Given the description of an element on the screen output the (x, y) to click on. 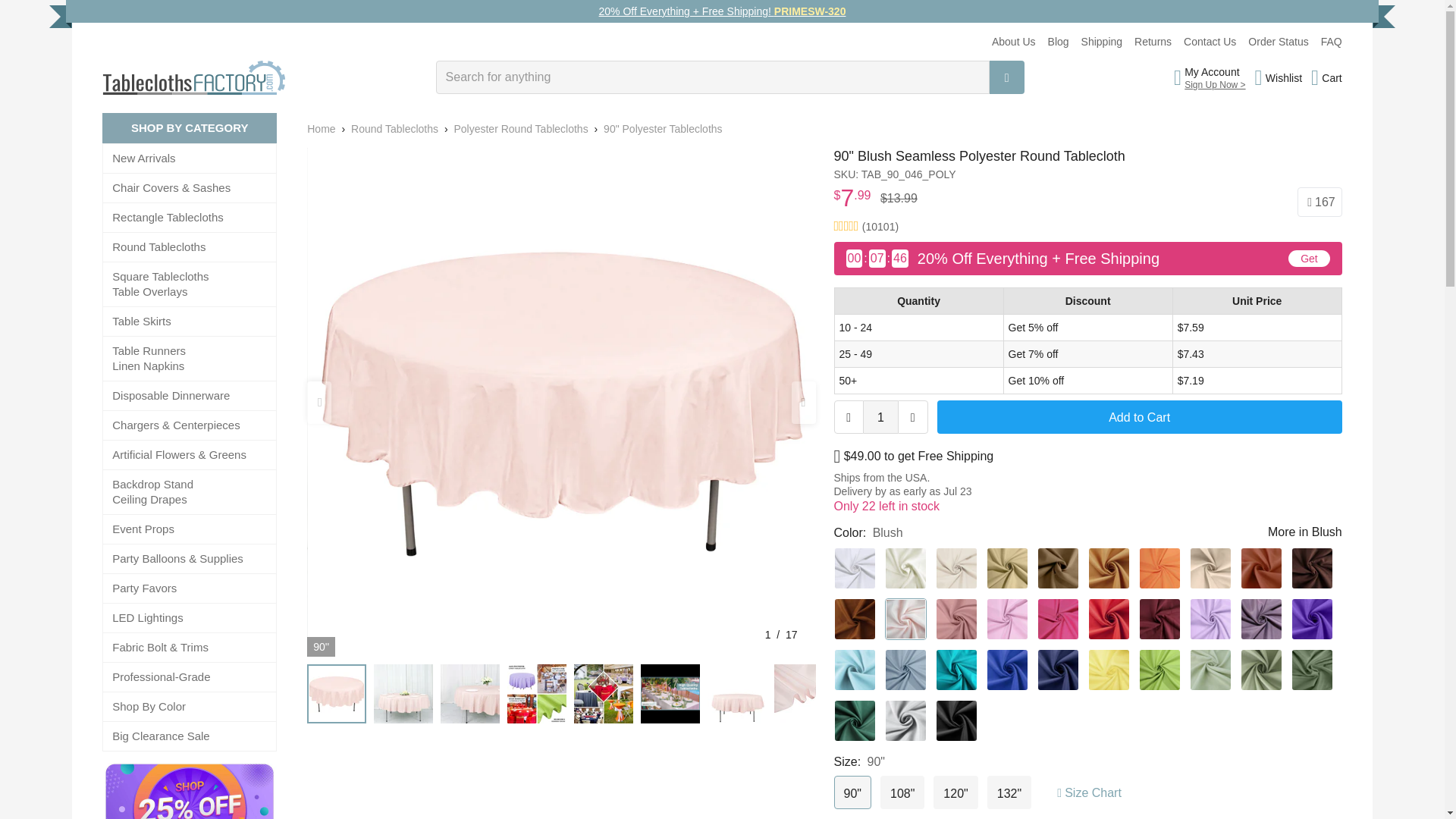
Back to the frontpage (320, 128)
Amethyst (1261, 618)
Blush (904, 618)
Orange (1159, 567)
Lavender Lilac (1209, 618)
Fuchsia (1057, 618)
Chocolate (1311, 567)
About Us (1013, 41)
Returns (1153, 41)
1 (880, 417)
Burgundy (1159, 618)
Taupe (1057, 567)
My Account (1214, 71)
White (855, 567)
Beige (956, 567)
